Given the description of an element on the screen output the (x, y) to click on. 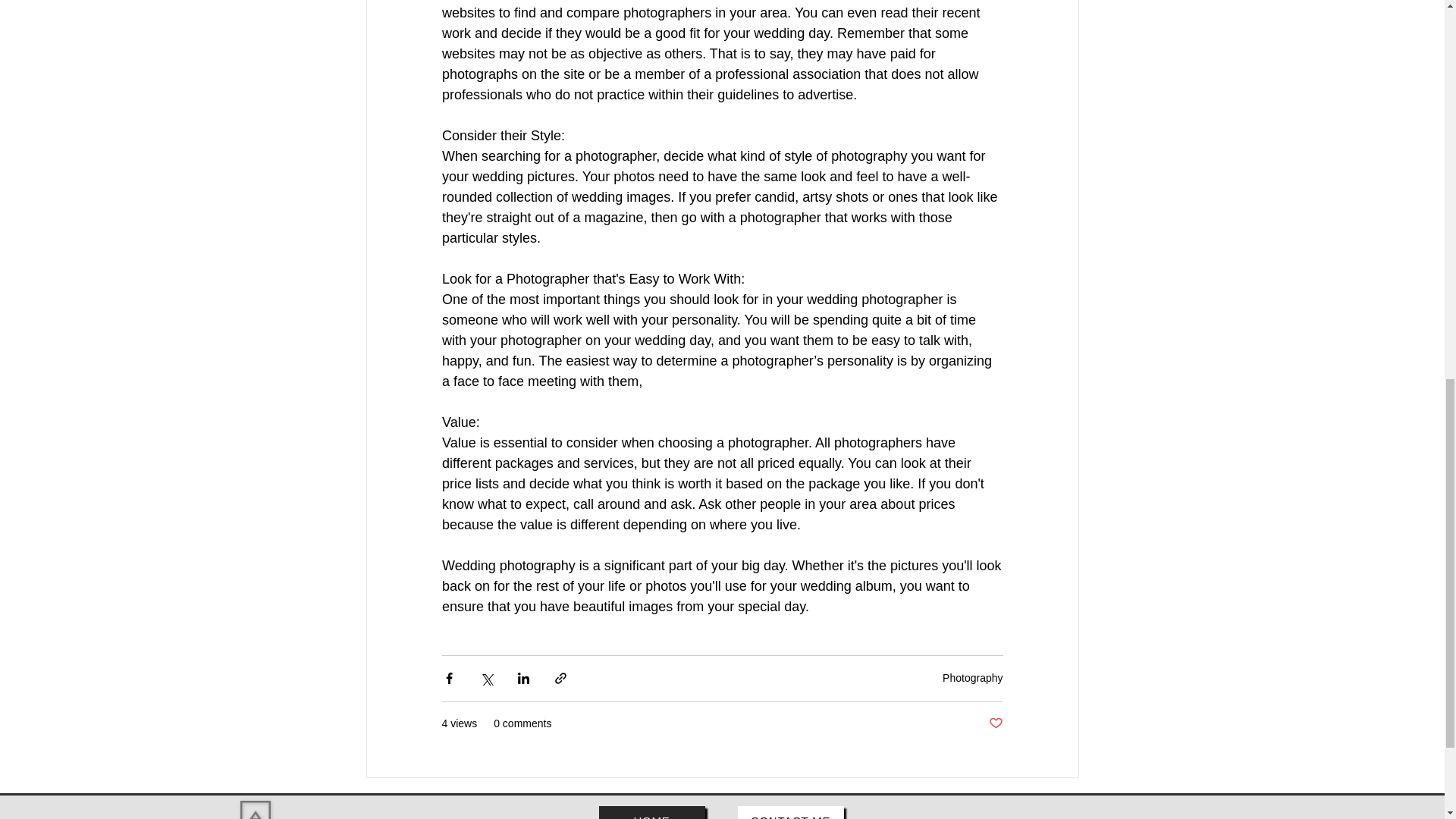
Post not marked as liked (995, 723)
Photography (972, 677)
CONTACT ME (789, 812)
HOME (651, 812)
